Given the description of an element on the screen output the (x, y) to click on. 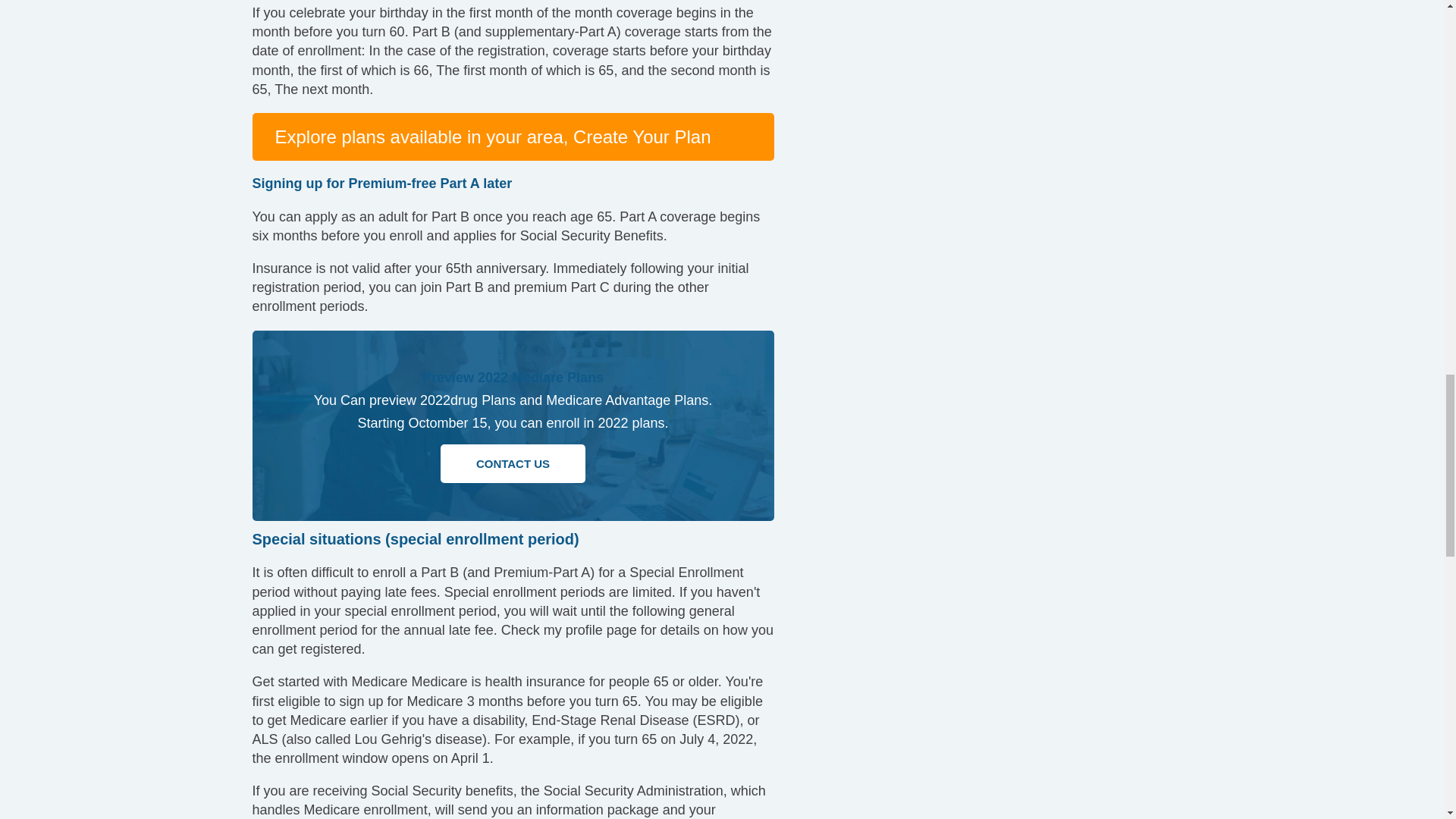
CONTACT US (513, 462)
CONTACT US (513, 463)
Explore plans available in your area, Create Your Plan (492, 136)
